Given the description of an element on the screen output the (x, y) to click on. 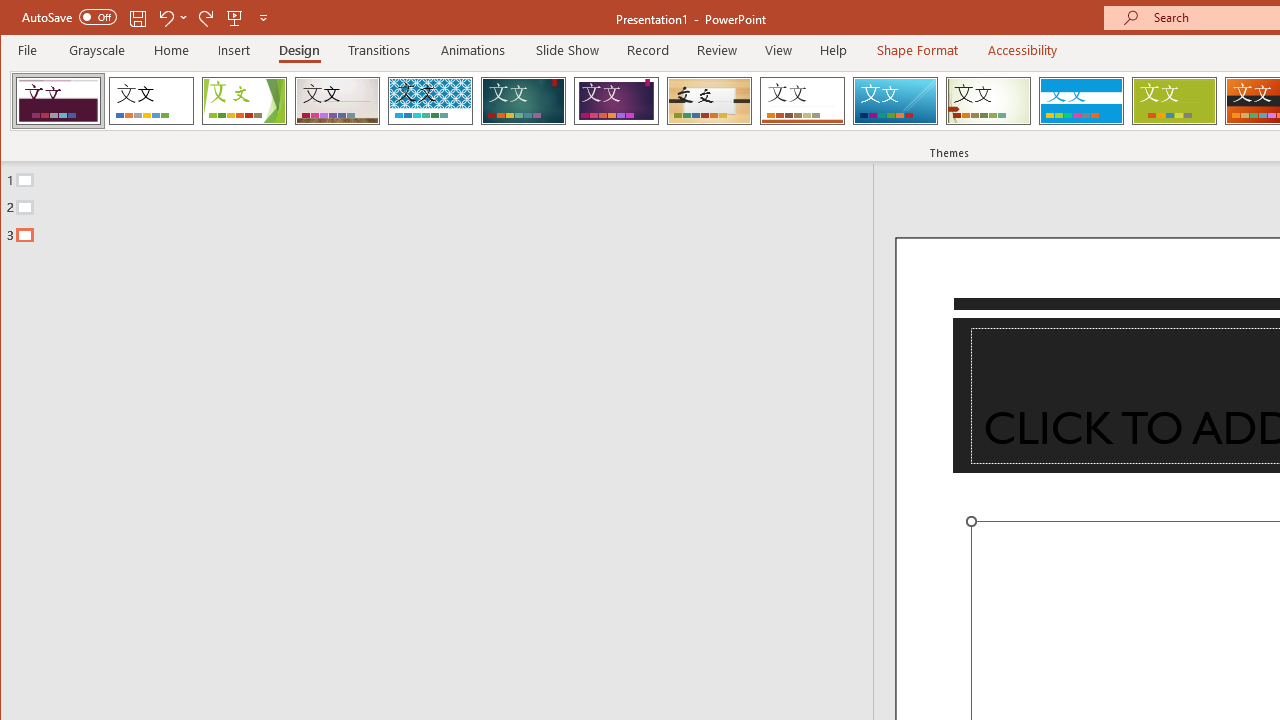
Organic (709, 100)
Facet (244, 100)
Basis (1174, 100)
Ion Boardroom (616, 100)
Banded (1081, 100)
Slice (895, 100)
